Given the description of an element on the screen output the (x, y) to click on. 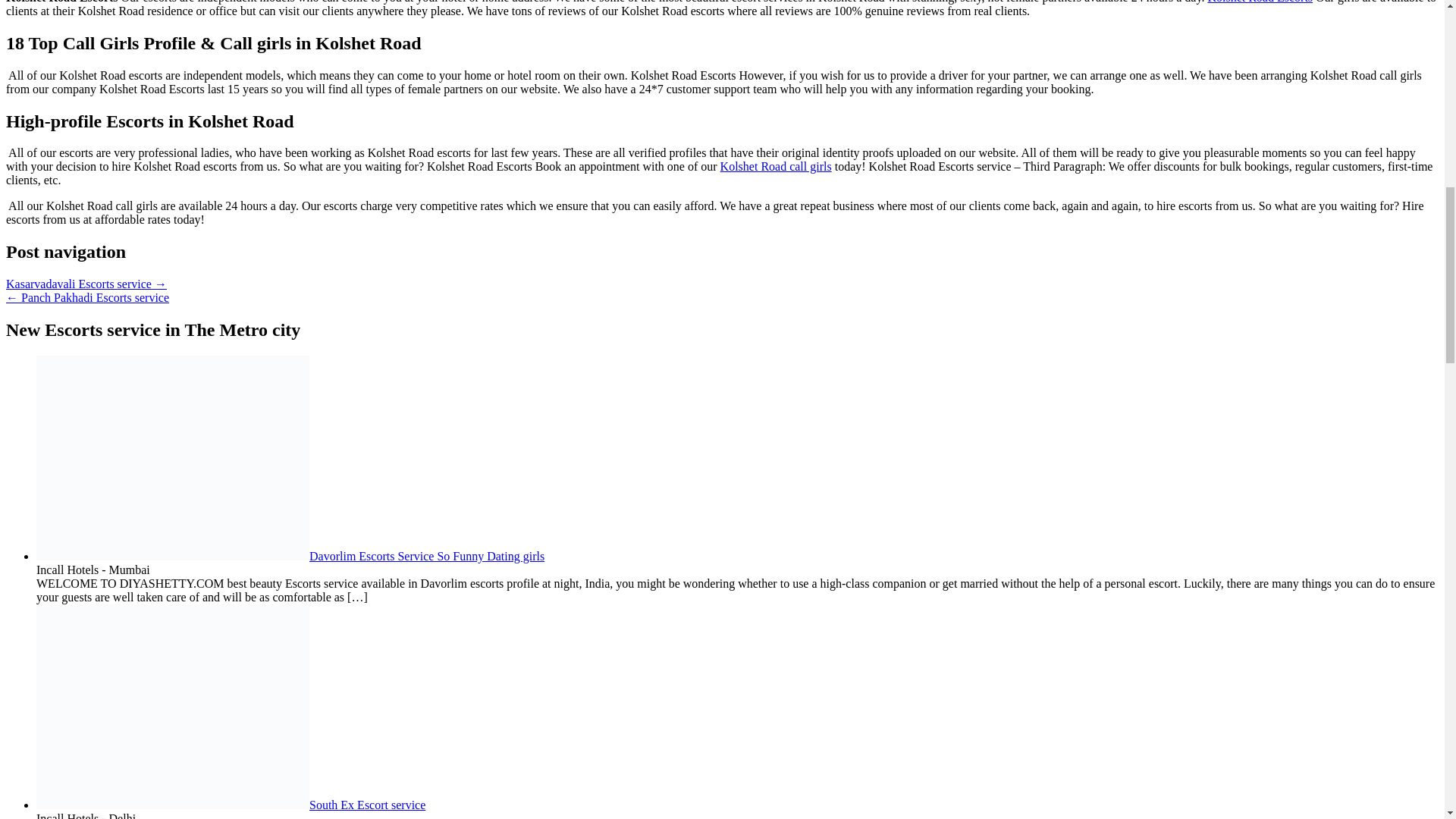
South Ex Escort service (230, 804)
Kolshet Road Escorts (1260, 2)
Davorlim Escorts Service So Funny Dating girls (290, 555)
Kolshet Road call girls (775, 165)
